Given the description of an element on the screen output the (x, y) to click on. 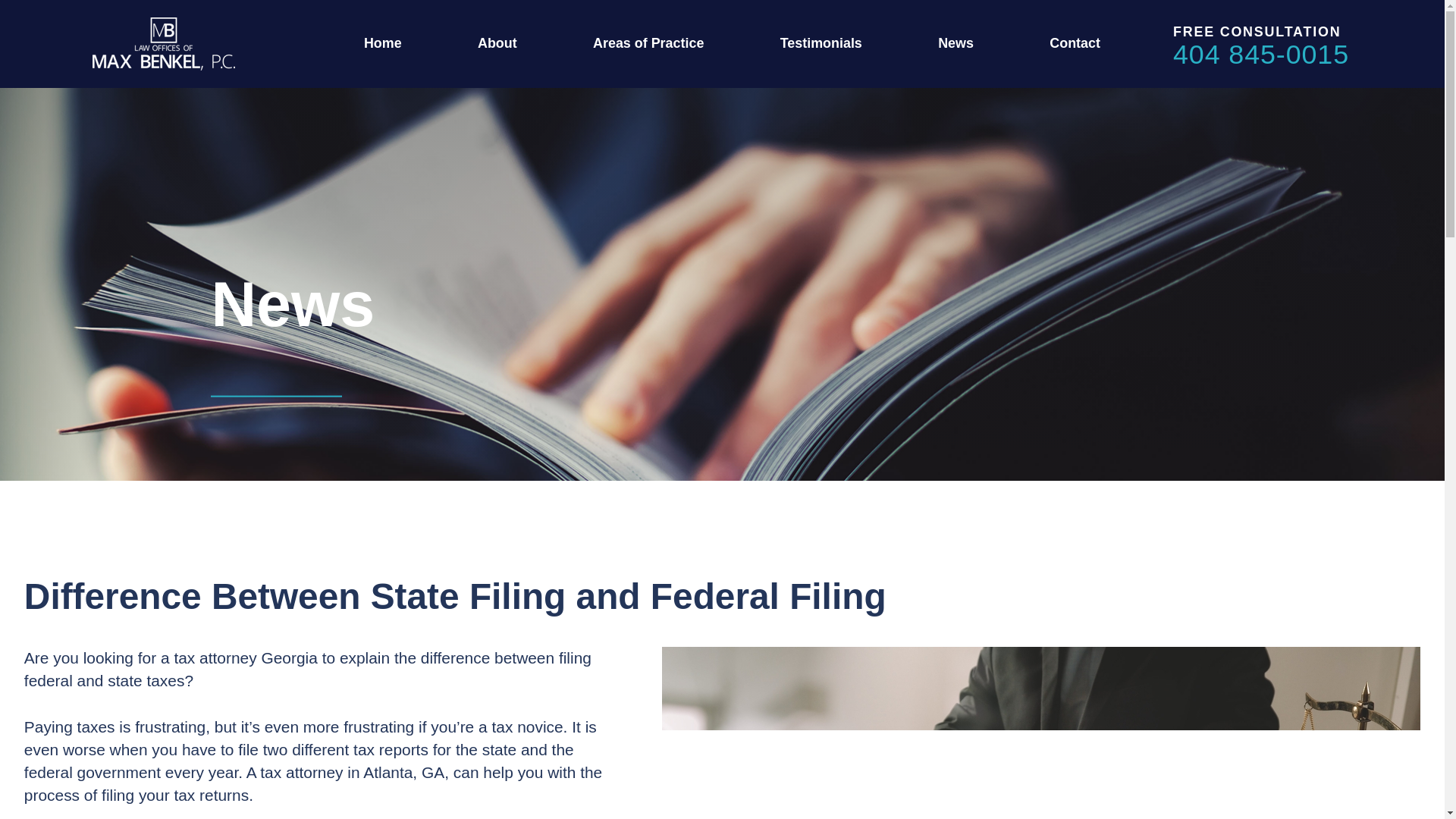
News (955, 43)
Areas of Practice (647, 43)
Home (382, 43)
404 845-0015 (1272, 55)
Contact (1074, 43)
About (496, 43)
Testimonials (820, 43)
